Given the description of an element on the screen output the (x, y) to click on. 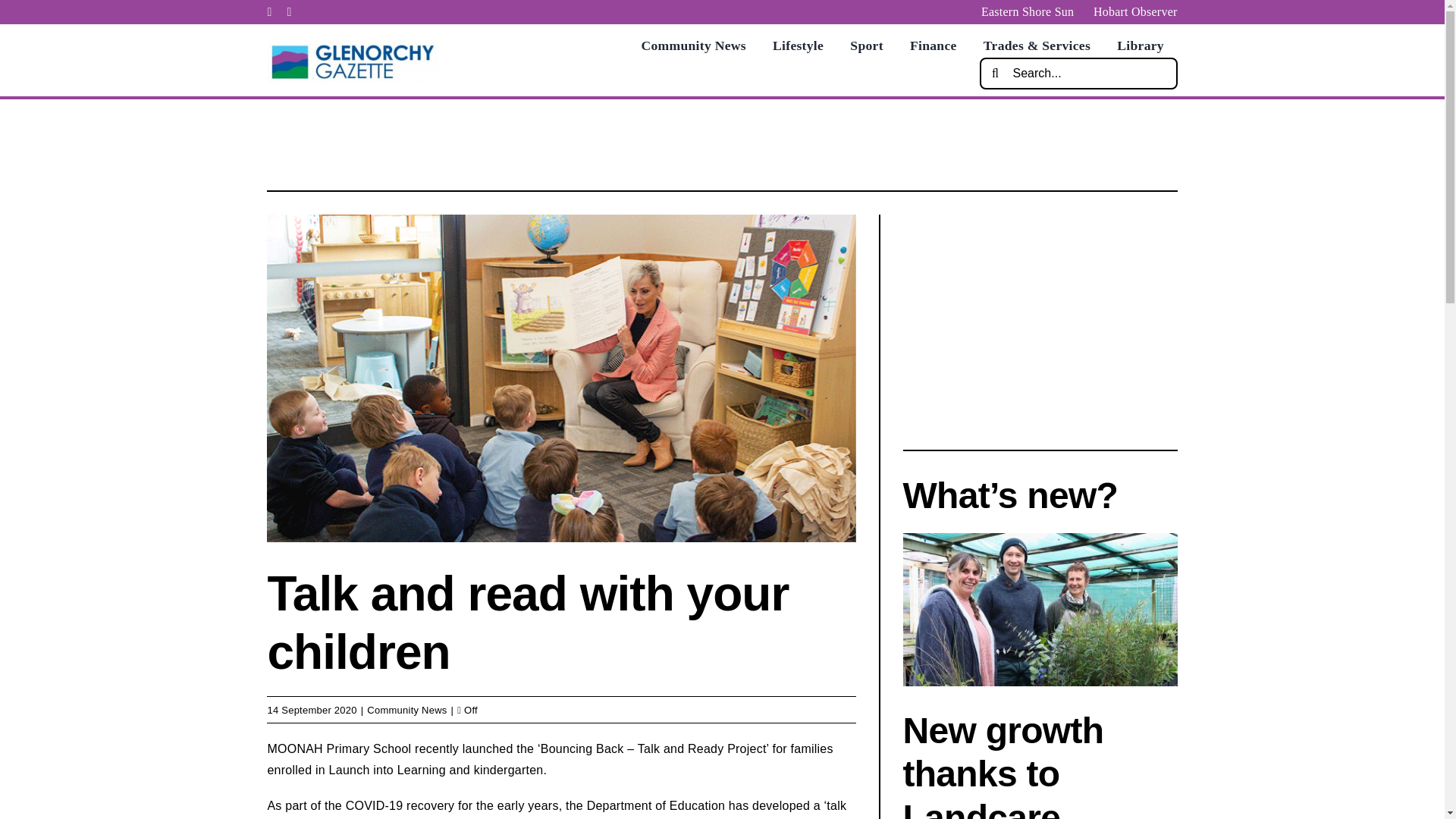
Finance (933, 45)
Community News (406, 709)
Advertisement (721, 141)
New growth thanks to Landcare (1002, 764)
Lifestyle (798, 45)
Advertisement (1039, 320)
Sport (866, 45)
Community News (693, 45)
Library (1139, 45)
